Given the description of an element on the screen output the (x, y) to click on. 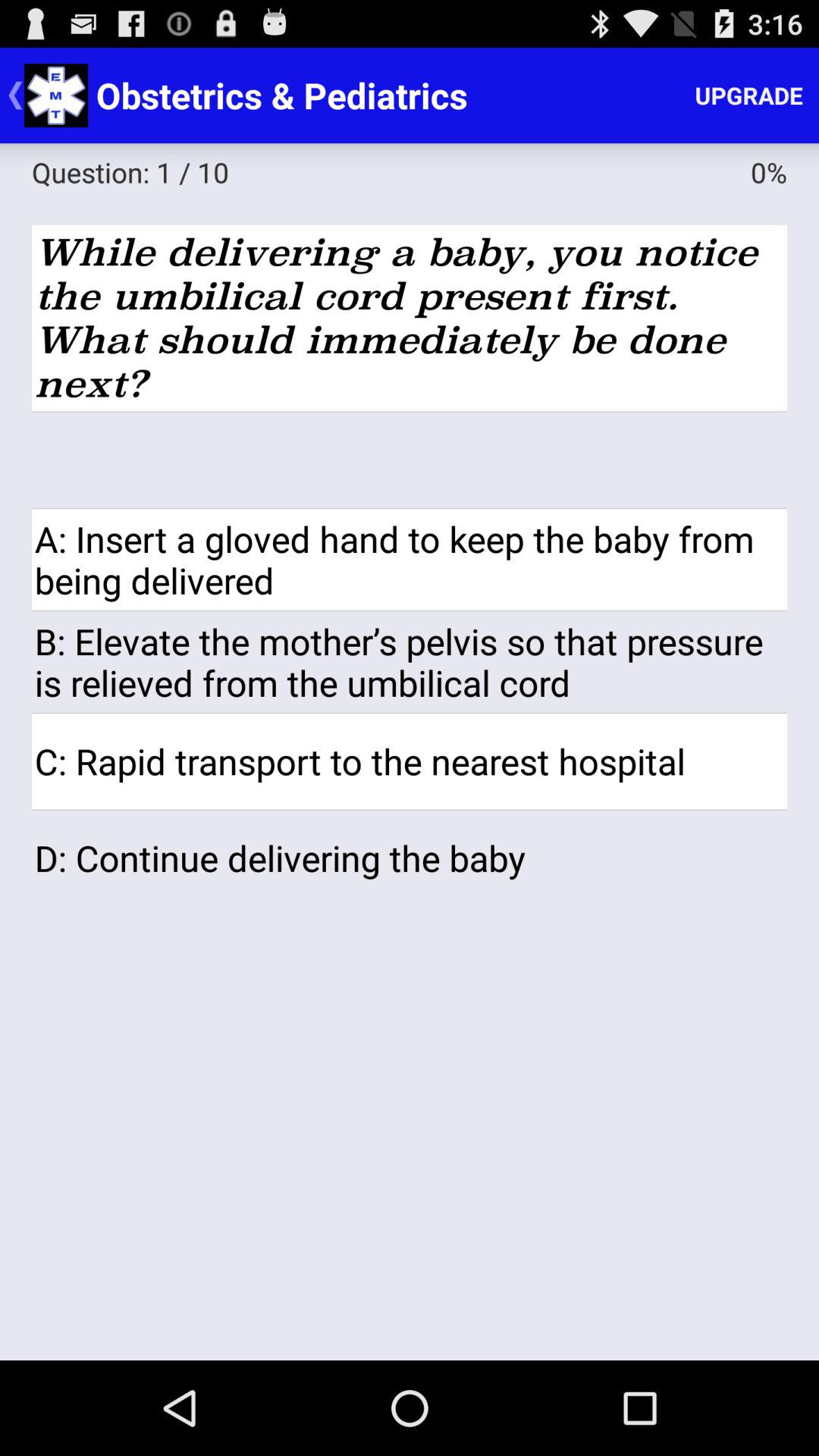
turn on the icon below the question: 1 / 10 icon (409, 318)
